Given the description of an element on the screen output the (x, y) to click on. 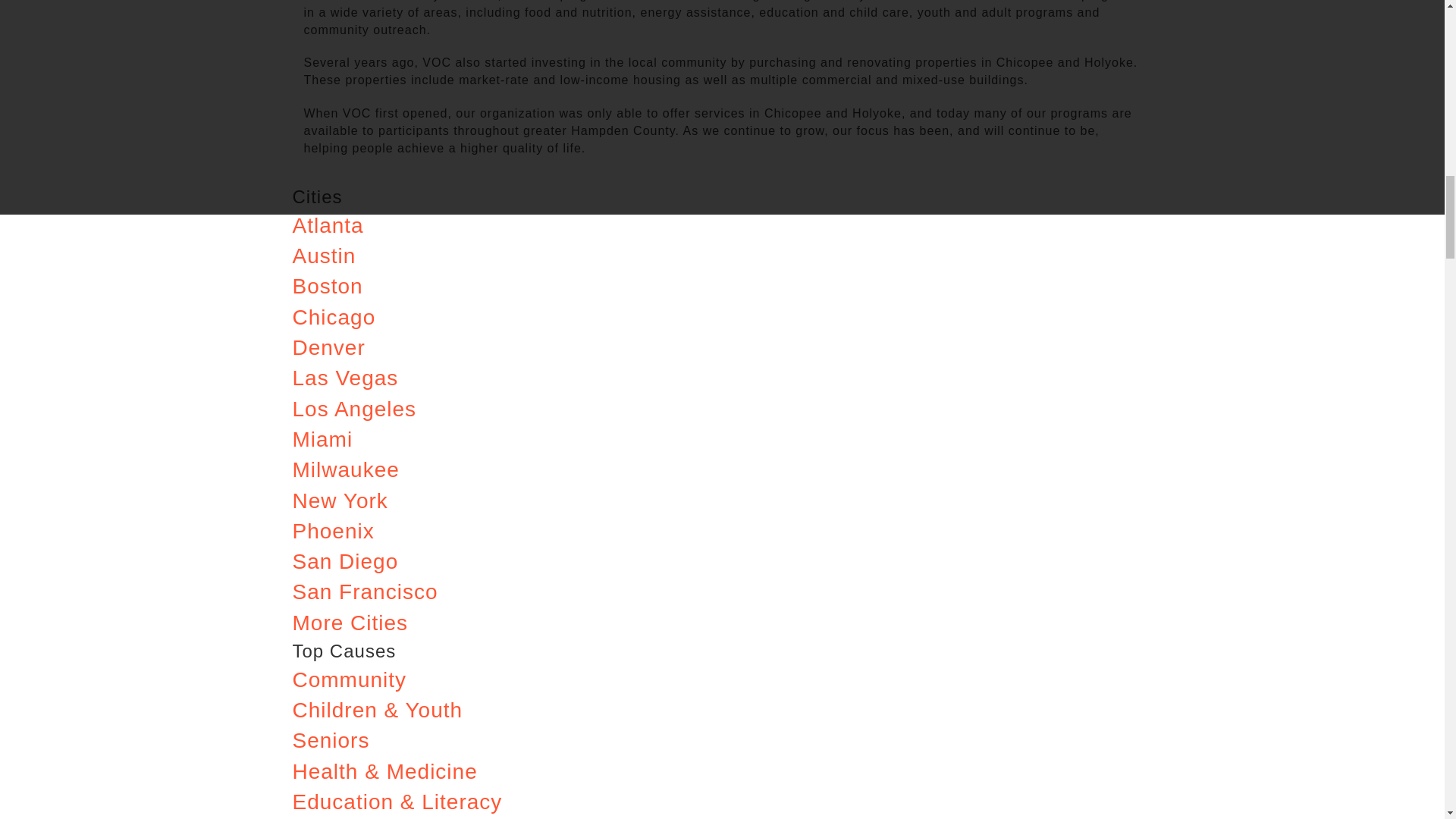
Boston (327, 286)
Atlanta (328, 225)
Austin (324, 255)
Denver (328, 347)
Chicago (333, 317)
